Given the description of an element on the screen output the (x, y) to click on. 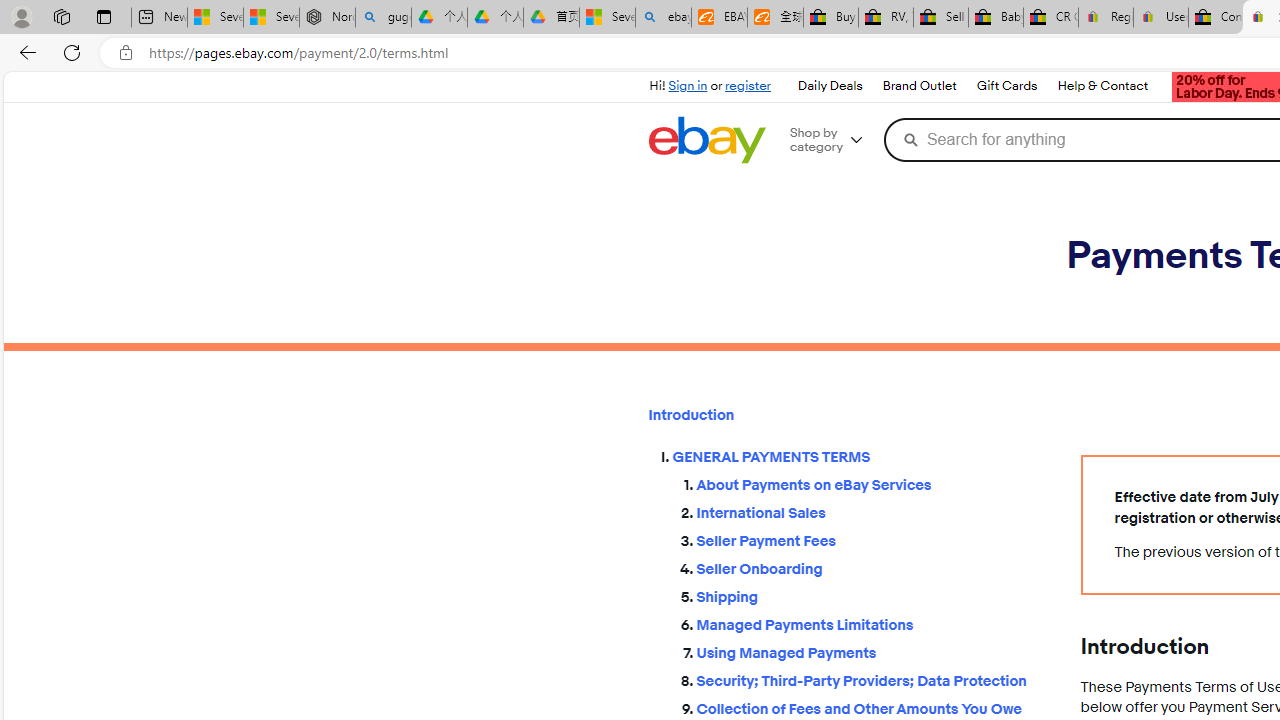
International Sales (872, 509)
Shop by category (833, 140)
International Sales (872, 513)
Sign in (687, 85)
Collection of Fees and Other Amounts You Owe (872, 709)
Seller Onboarding (872, 565)
Shipping (872, 592)
Seller Payment Fees (872, 541)
Daily Deals (829, 85)
eBay Home (706, 139)
register (747, 85)
